Given the description of an element on the screen output the (x, y) to click on. 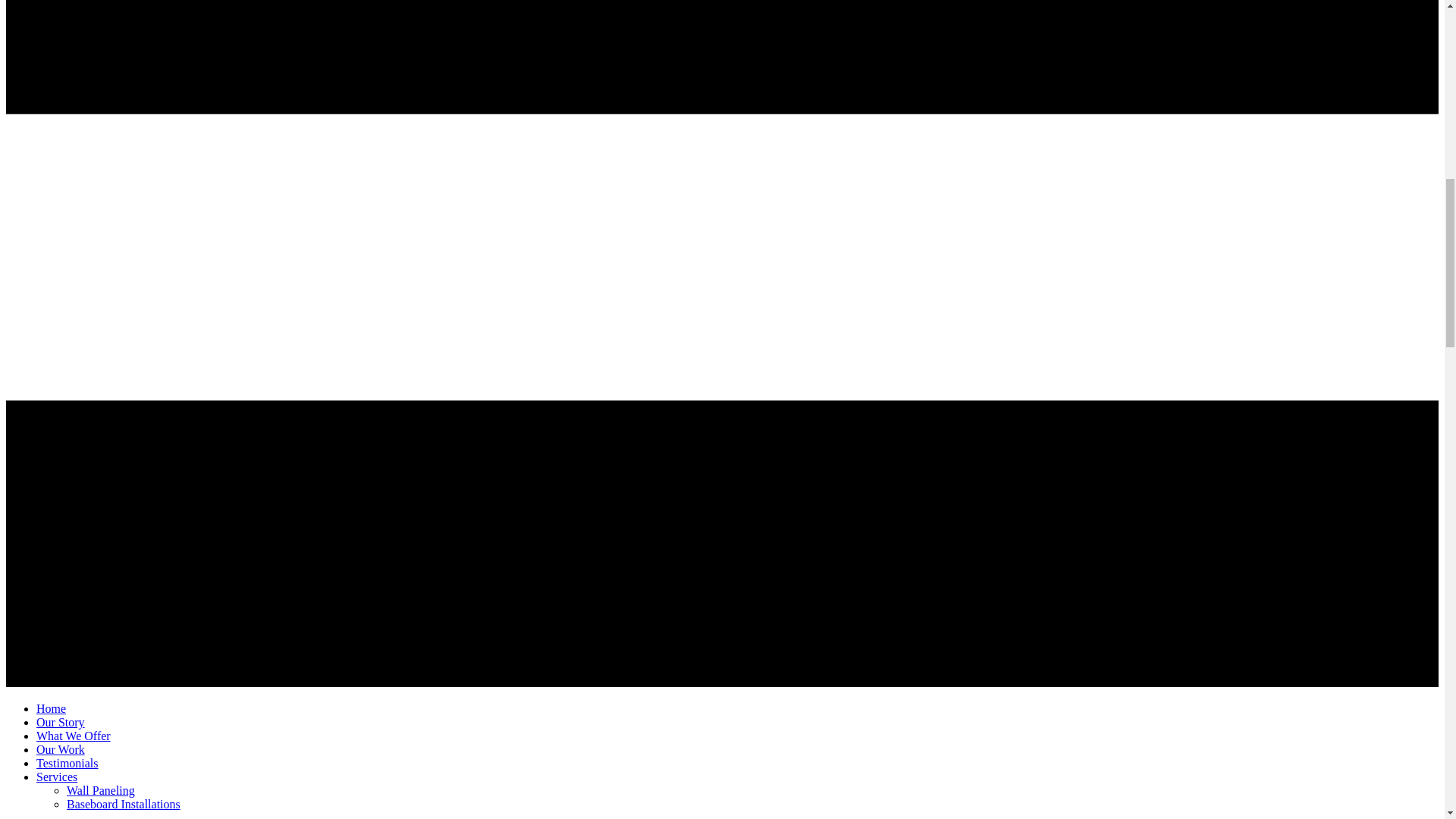
Our Story (60, 721)
Our Work (60, 748)
Services (56, 776)
Testimonials (67, 762)
What We Offer (73, 735)
Baseboard Installations (123, 803)
Wall Paneling (100, 789)
Home (50, 707)
